Given the description of an element on the screen output the (x, y) to click on. 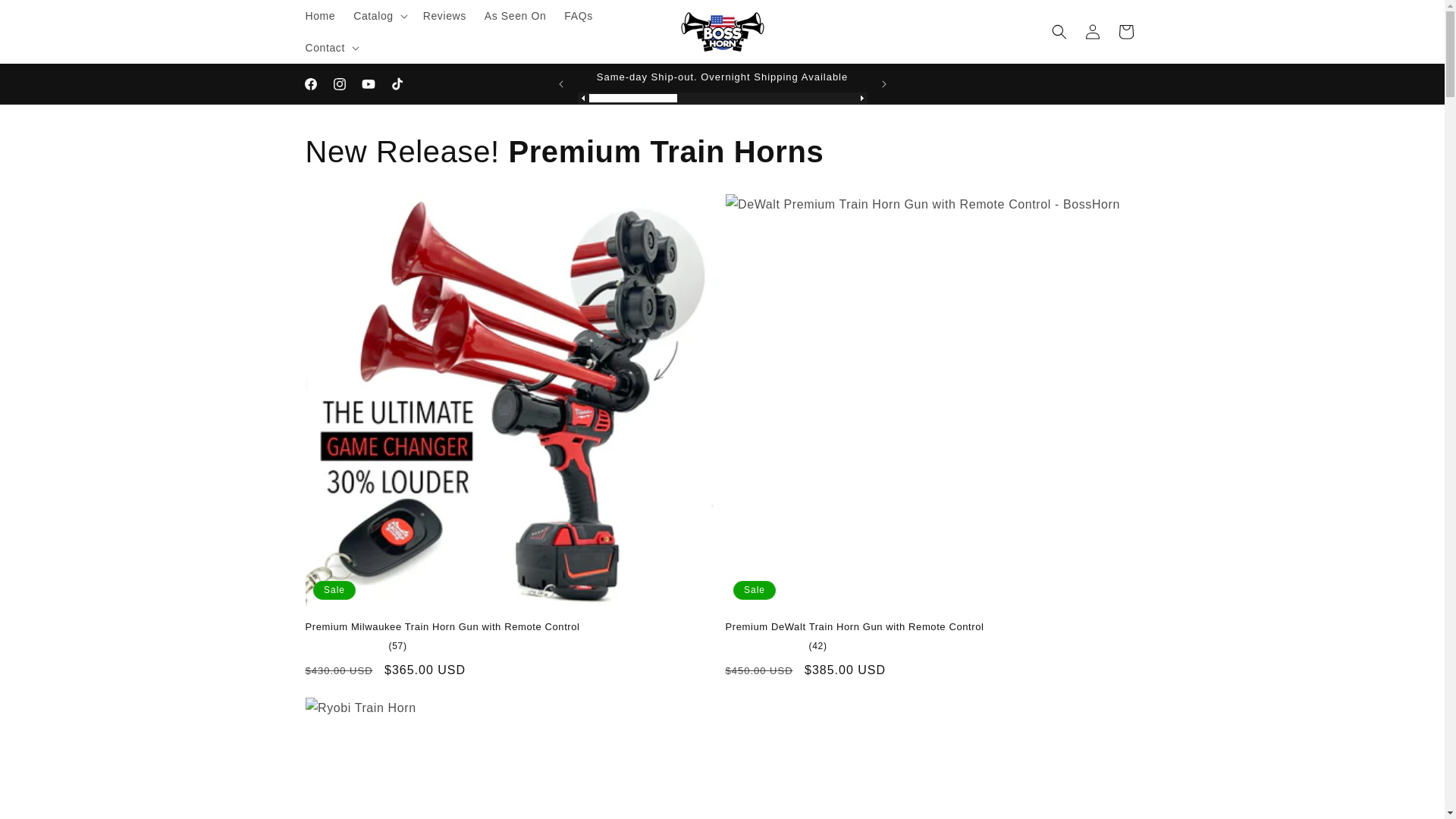
As Seen On (516, 15)
Home (319, 15)
Reviews (444, 15)
Skip to content (47, 18)
